Given the description of an element on the screen output the (x, y) to click on. 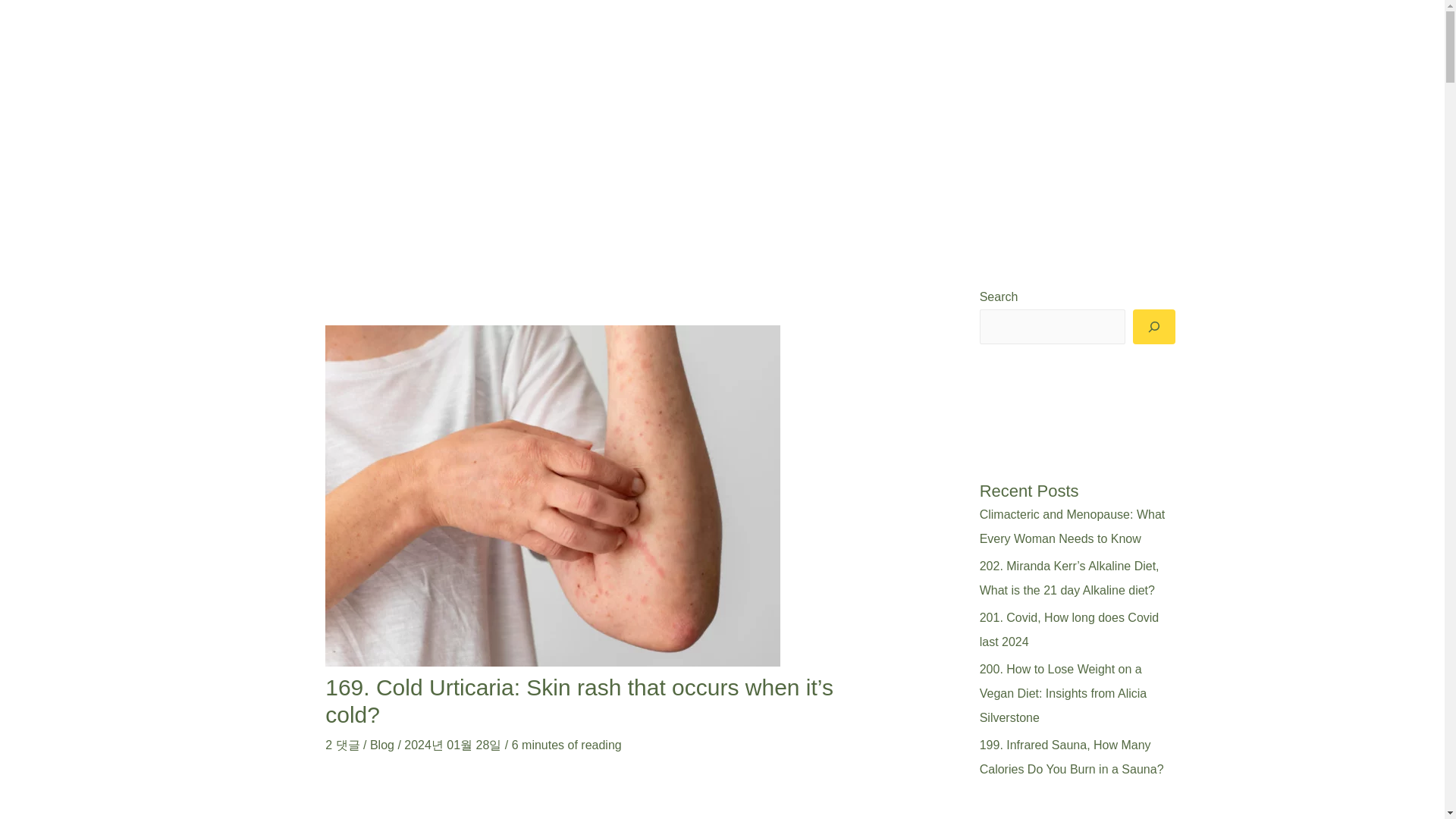
Advertisement (465, 798)
Advertisement (710, 798)
Blog (381, 744)
